Given the description of an element on the screen output the (x, y) to click on. 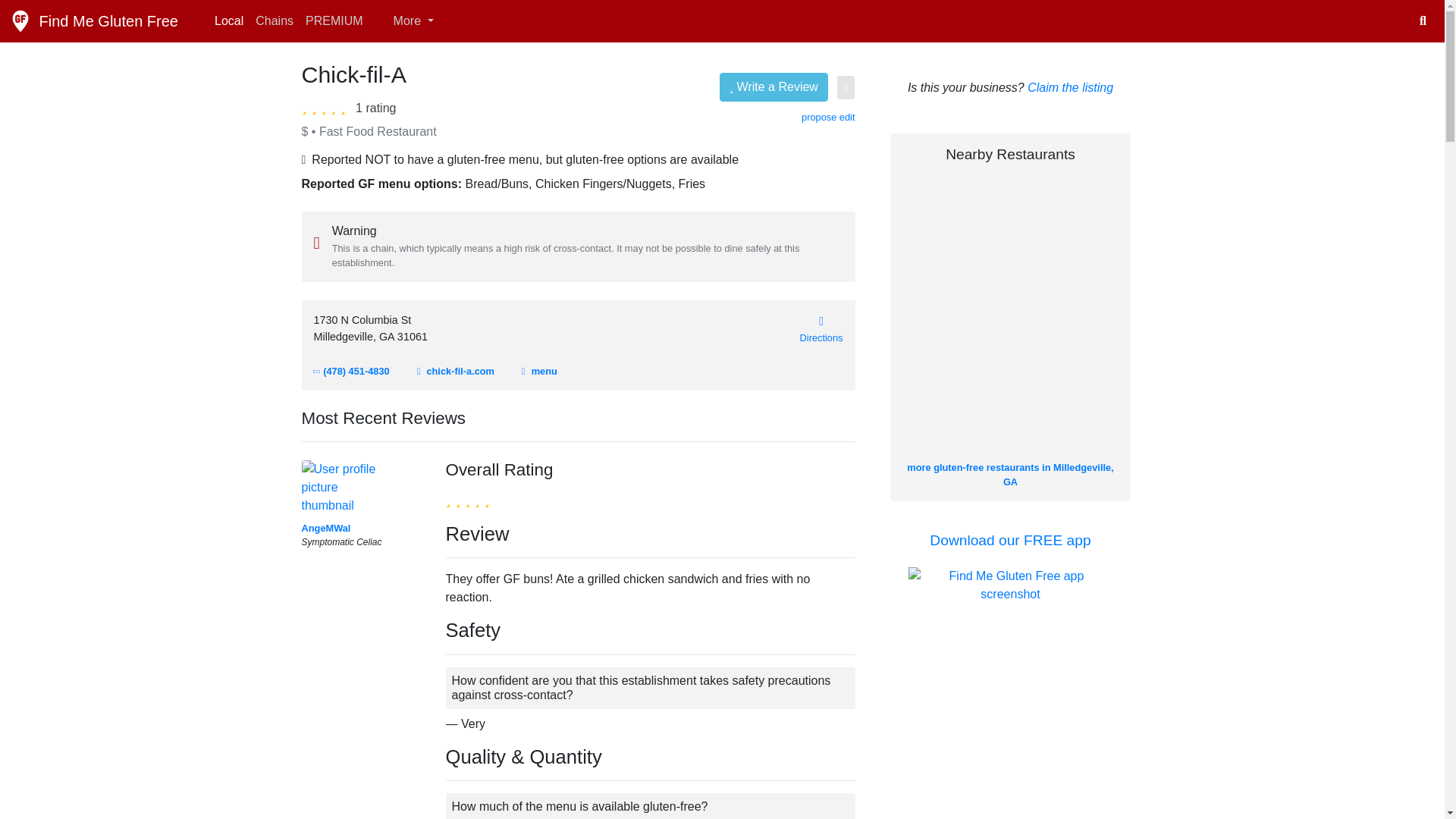
More (404, 20)
Local (228, 20)
chick-fil-a.com (455, 370)
5.0 star rating (325, 105)
Write a Review (773, 86)
Directions (821, 328)
5 star rating (467, 497)
menu (539, 370)
AngeMWal (325, 527)
propose edit (828, 116)
PREMIUM (334, 20)
Chains (273, 20)
Find Me Gluten Free (94, 20)
